Given the description of an element on the screen output the (x, y) to click on. 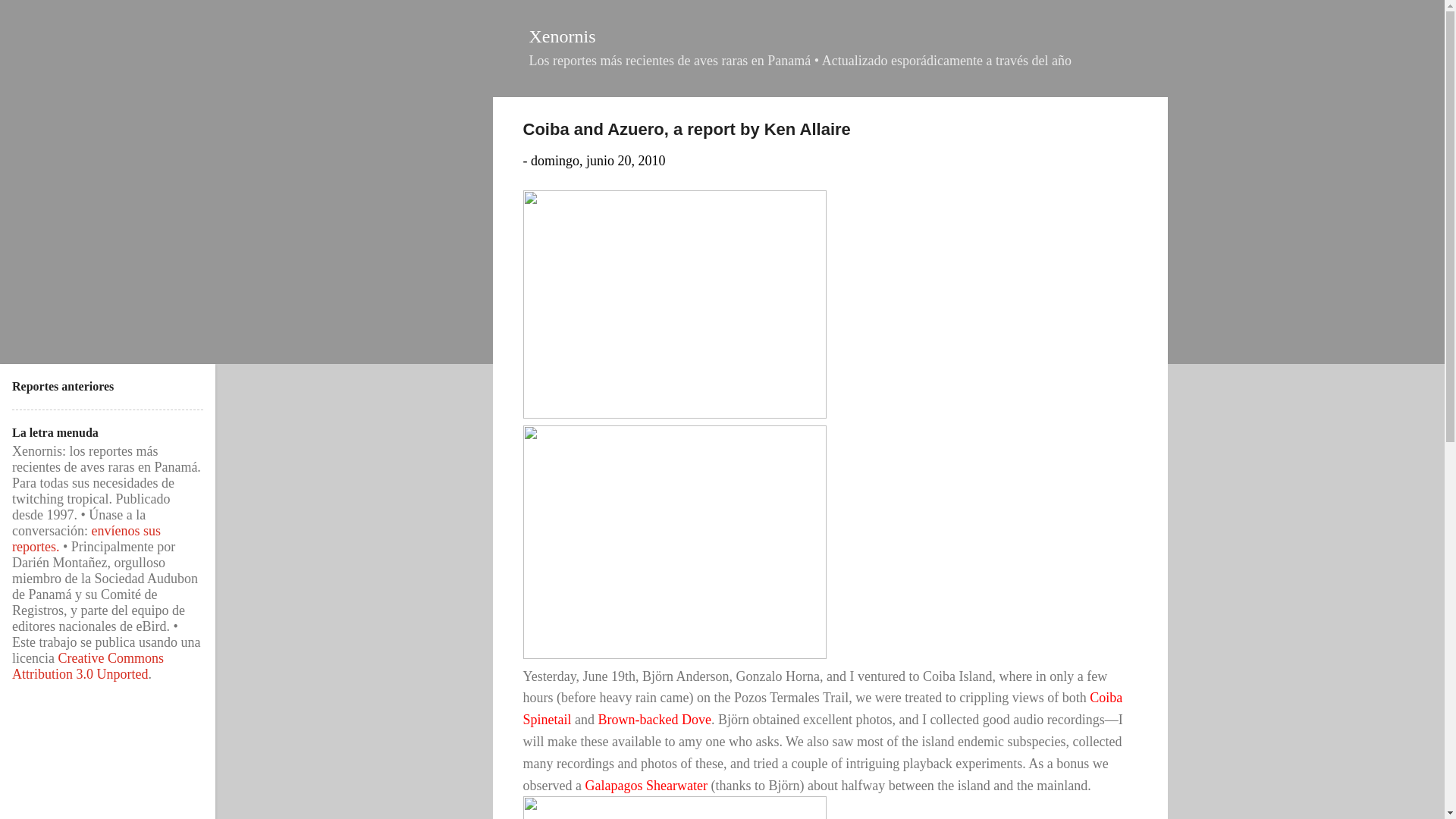
Buscar (34, 18)
Xenornis (562, 35)
permanent link (598, 160)
domingo, junio 20, 2010 (598, 160)
